Given the description of an element on the screen output the (x, y) to click on. 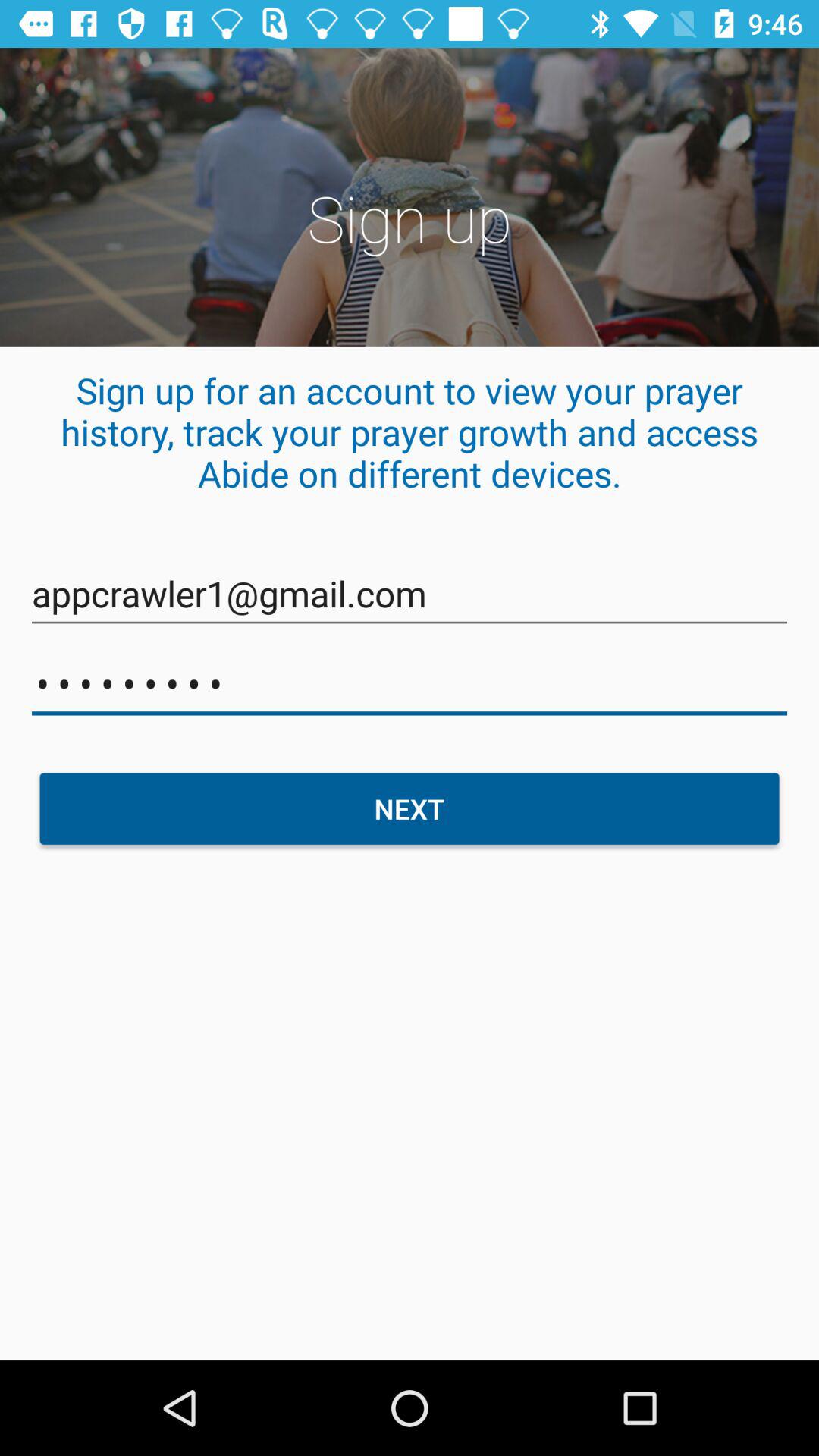
tap icon below the appcrawler1@gmail.com icon (409, 684)
